Given the description of an element on the screen output the (x, y) to click on. 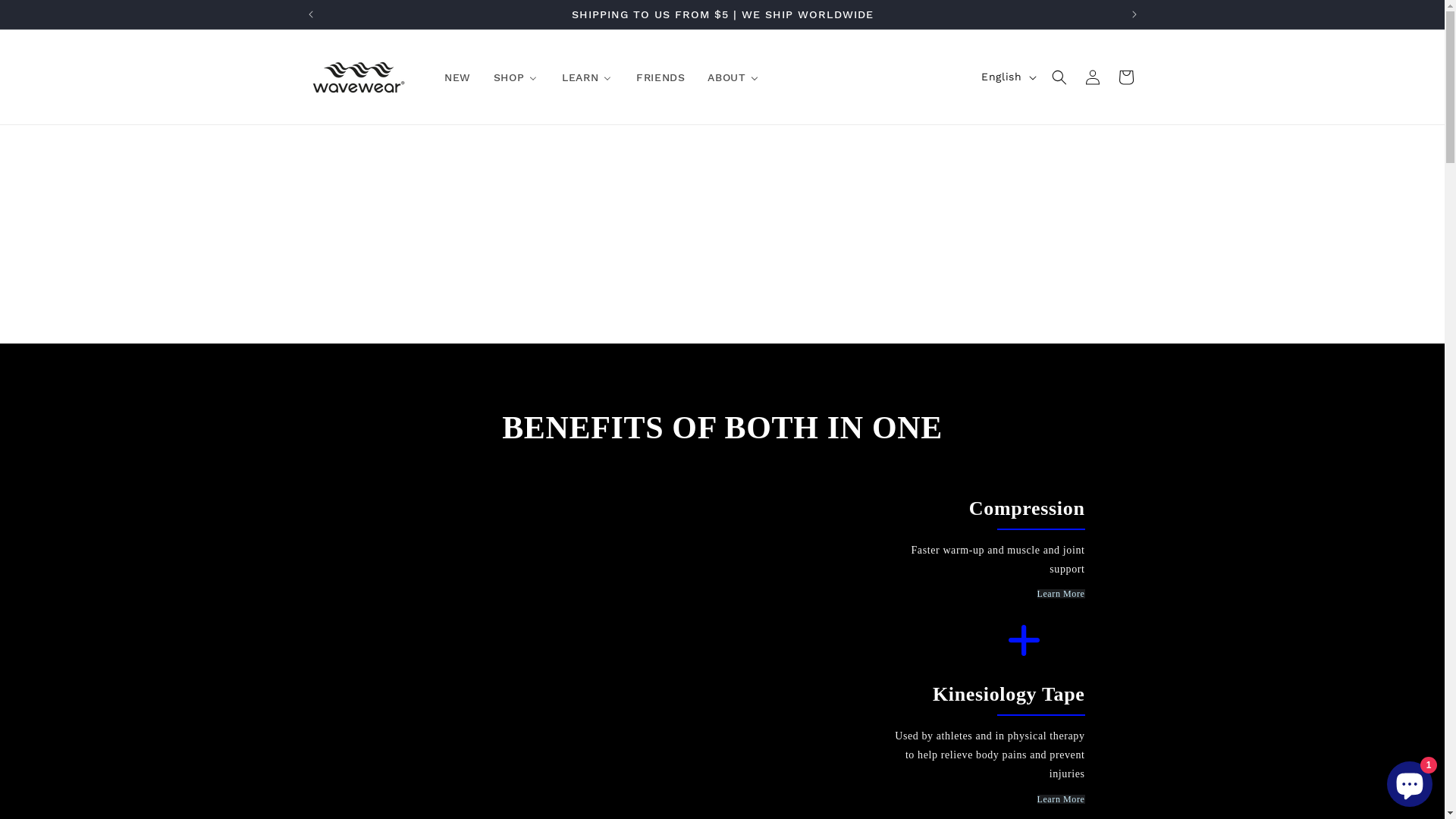
ABOUT Element type: text (733, 77)
NEW Element type: text (456, 77)
SHOP Element type: text (515, 77)
Log in Element type: text (1091, 77)
Cart Element type: text (1125, 77)
Learn More Element type: text (1061, 593)
Shopify online store chat Element type: hover (1409, 780)
Learn More Element type: text (1061, 798)
LEARN Element type: text (586, 77)
FRIENDS Element type: text (659, 77)
English Element type: text (1006, 76)
